Given the description of an element on the screen output the (x, y) to click on. 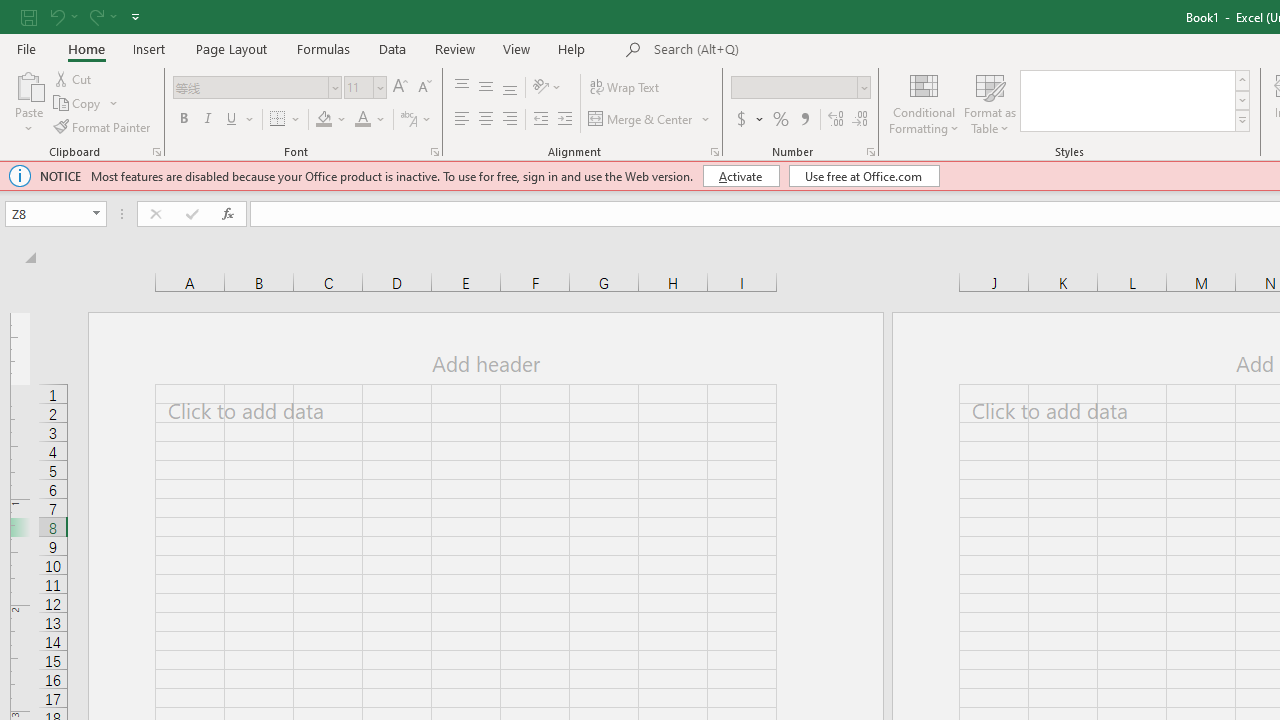
Borders (285, 119)
Underline (232, 119)
Cell Styles (1242, 120)
Merge & Center (649, 119)
Increase Font Size (399, 87)
Show Phonetic Field (408, 119)
Percent Style (781, 119)
Conditional Formatting (924, 102)
